Given the description of an element on the screen output the (x, y) to click on. 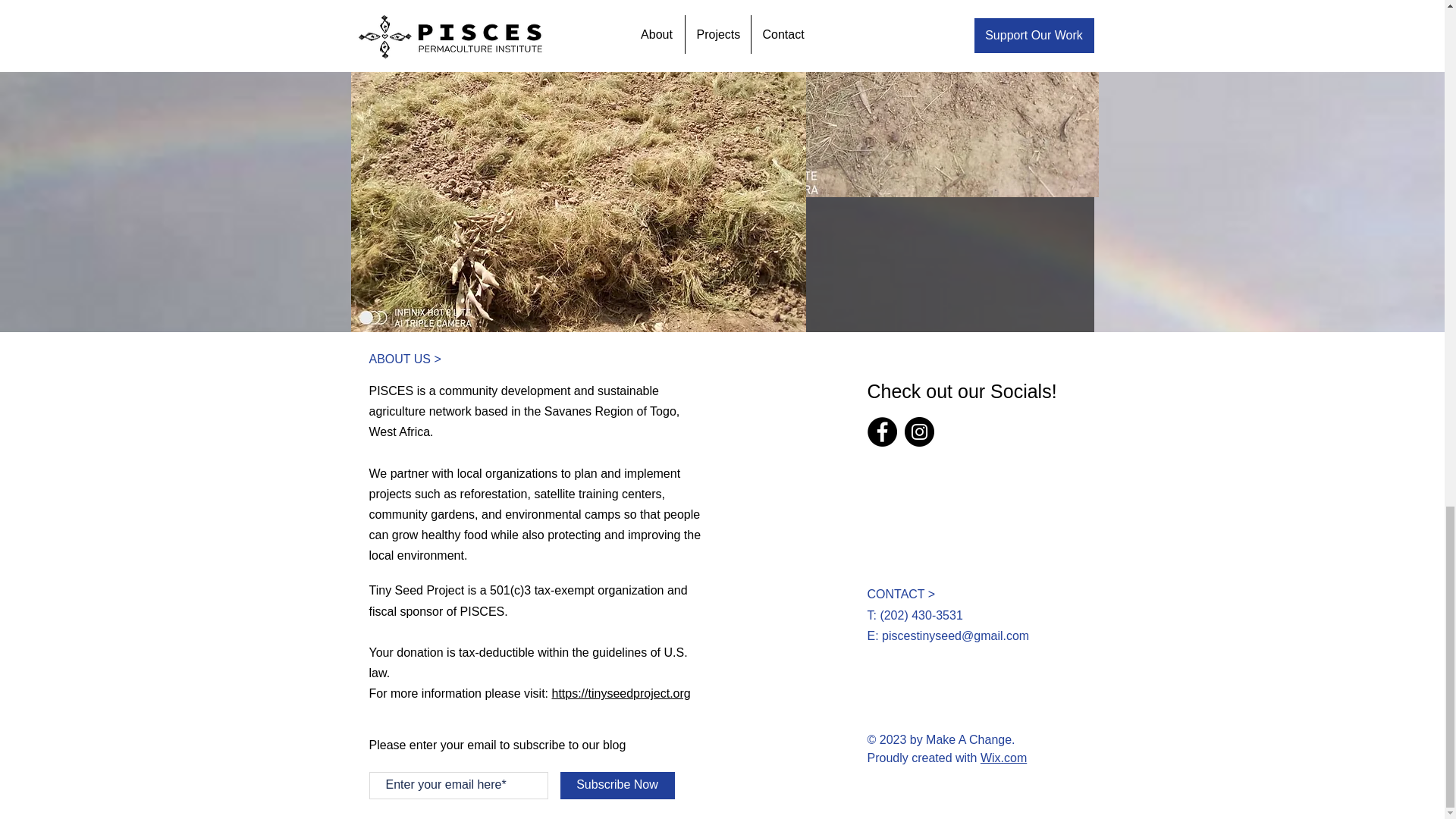
Wix.com (1002, 757)
Subscribe Now (616, 785)
